Given the description of an element on the screen output the (x, y) to click on. 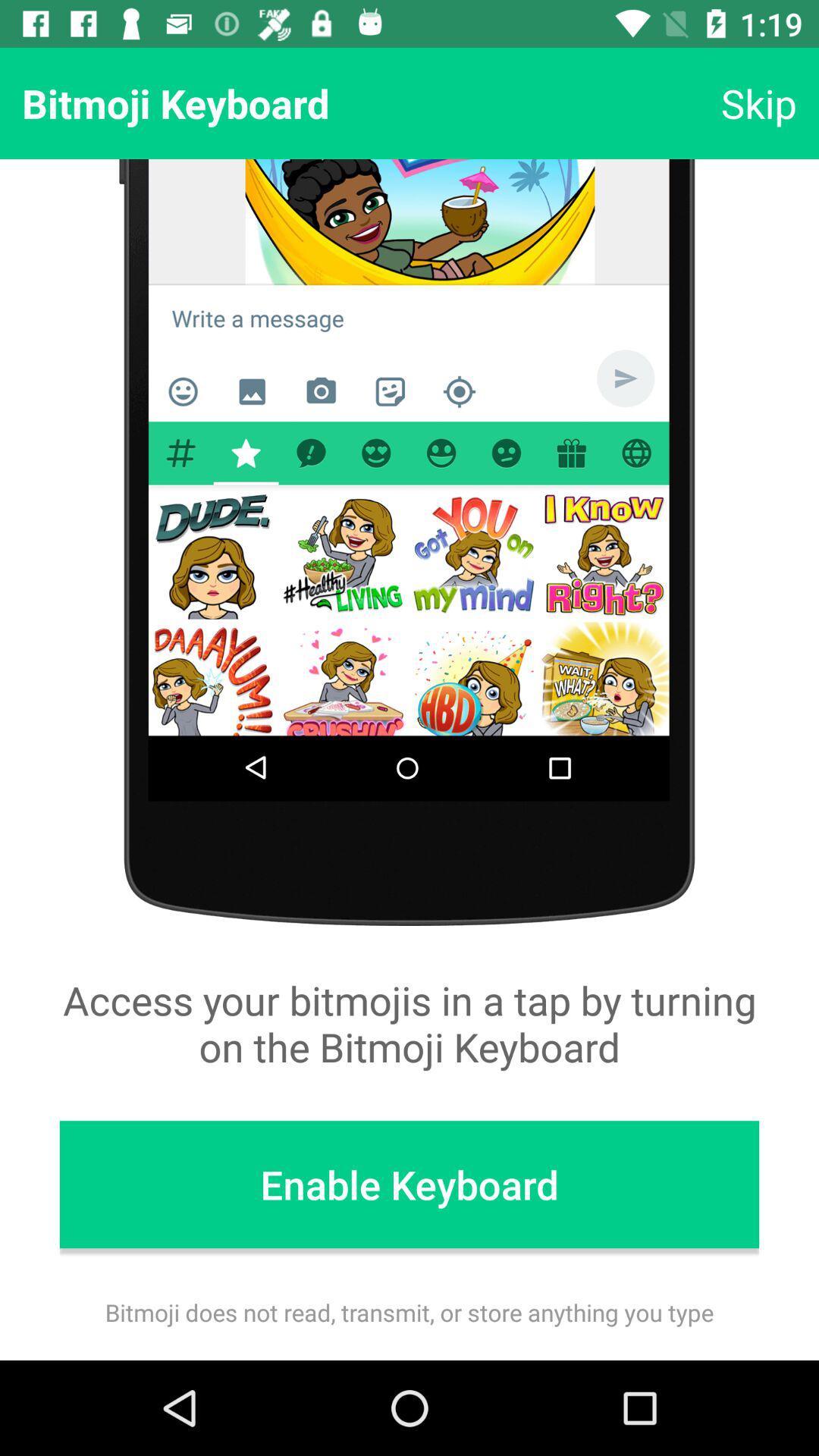
press item above bitmoji does not icon (409, 1184)
